Given the description of an element on the screen output the (x, y) to click on. 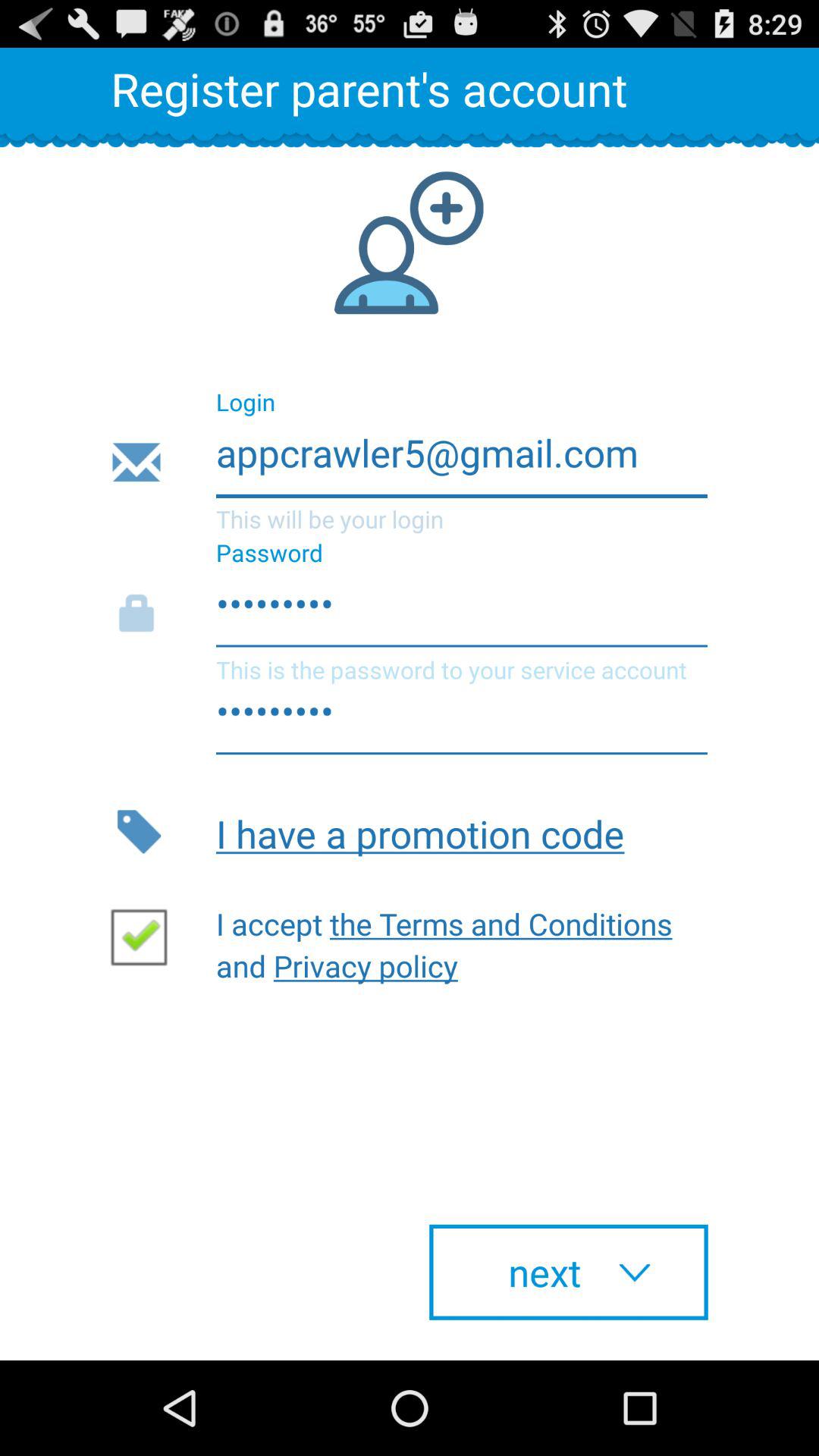
turn on the item next to i accept the app (145, 936)
